Given the description of an element on the screen output the (x, y) to click on. 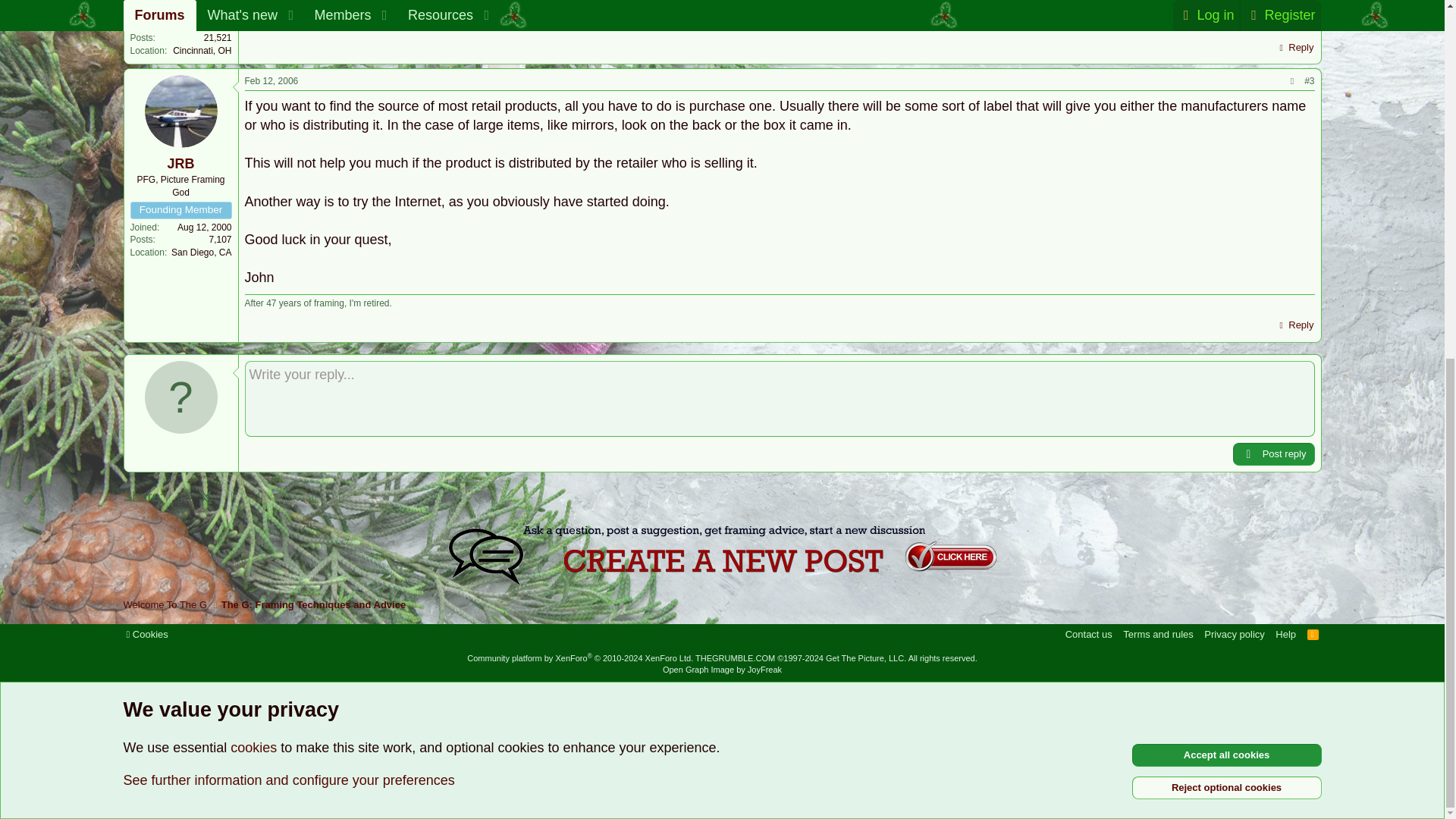
Feb 12, 2006 at 1:14 PM (271, 81)
Cookie consent (146, 634)
Reply, quoting this message (1294, 47)
Reply, quoting this message (1294, 324)
RSS (1313, 634)
